Given the description of an element on the screen output the (x, y) to click on. 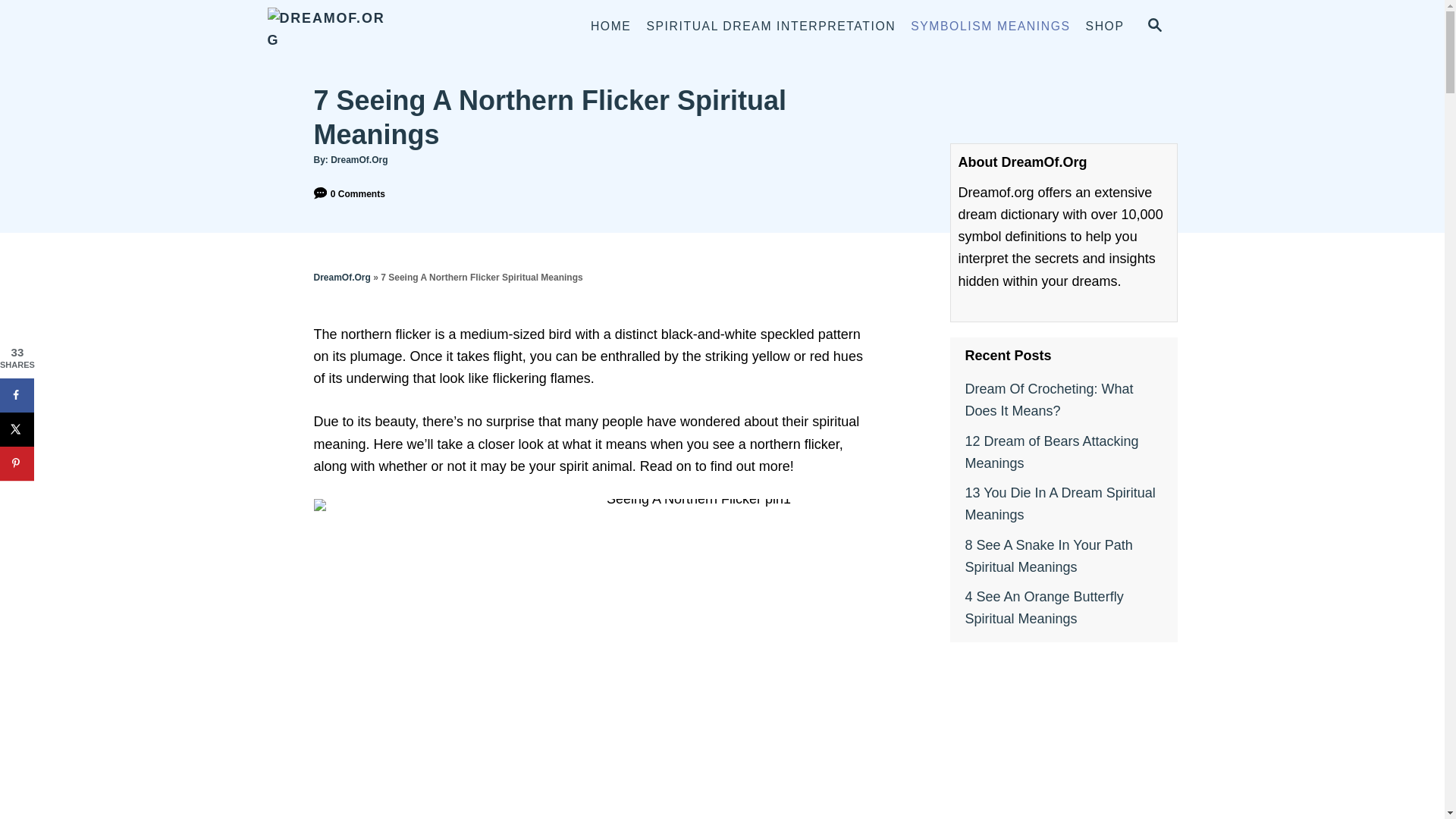
DreamOf.Org (358, 159)
SHOP (1105, 26)
SYMBOLISM MEANINGS (989, 26)
SPIRITUAL DREAM INTERPRETATION (770, 26)
12 Dream of Bears Attacking Meanings (1062, 451)
DreamOf.Org (342, 276)
8 See A Snake In Your Path Spiritual Meanings (1062, 556)
HOME (611, 26)
13 You Die In A Dream Spiritual Meanings (1062, 504)
DreamOf.Org (402, 26)
SEARCH (1154, 26)
4 See An Orange Butterfly Spiritual Meanings (1062, 608)
Dream Of Crocheting: What Does It Means? (1062, 400)
